Given the description of an element on the screen output the (x, y) to click on. 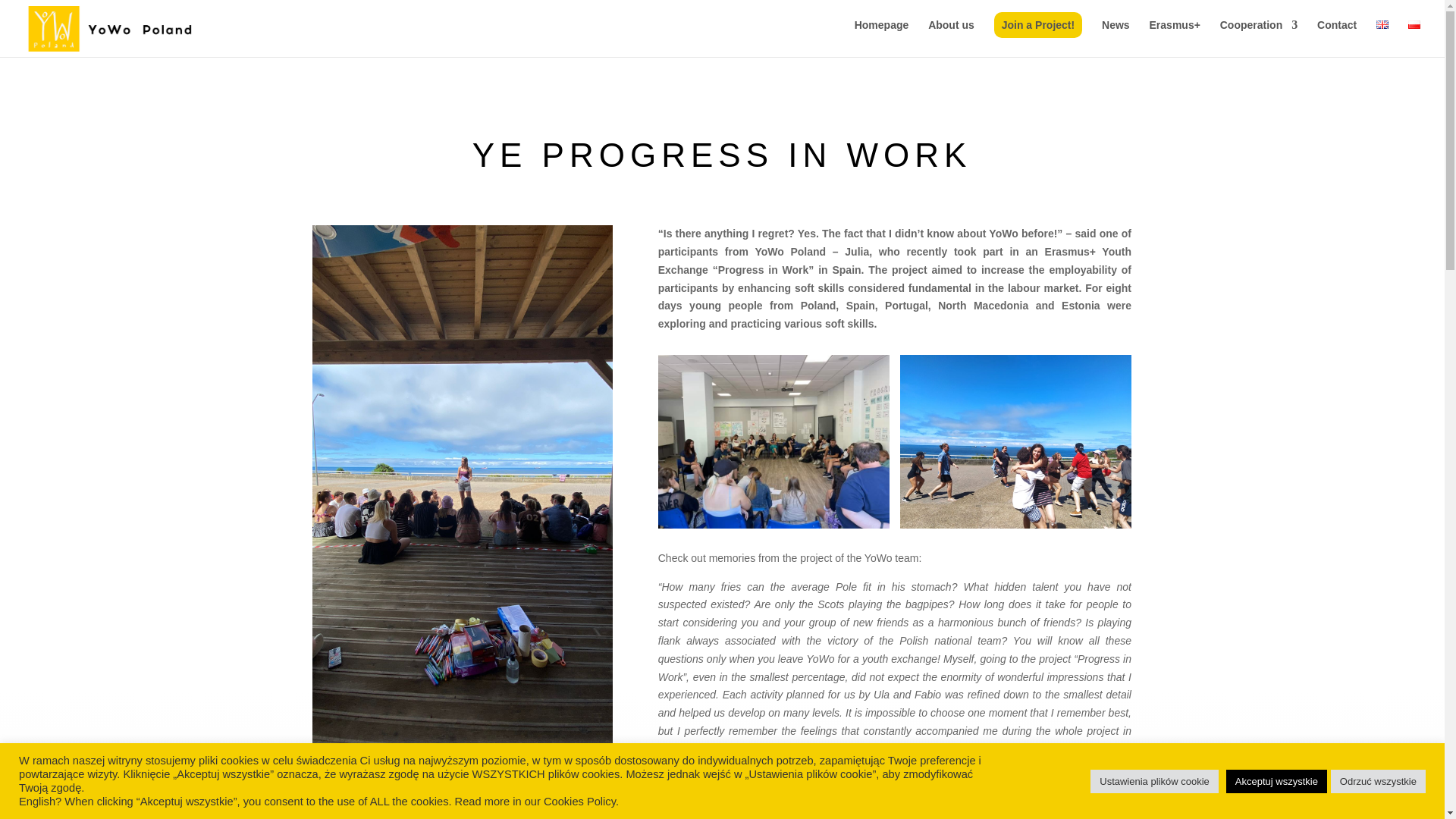
Contact (1336, 37)
Homepage (881, 37)
Akceptuj wszystkie (1275, 780)
Cooperation (1258, 37)
Join a Project! (1037, 24)
About us (951, 37)
